Given the description of an element on the screen output the (x, y) to click on. 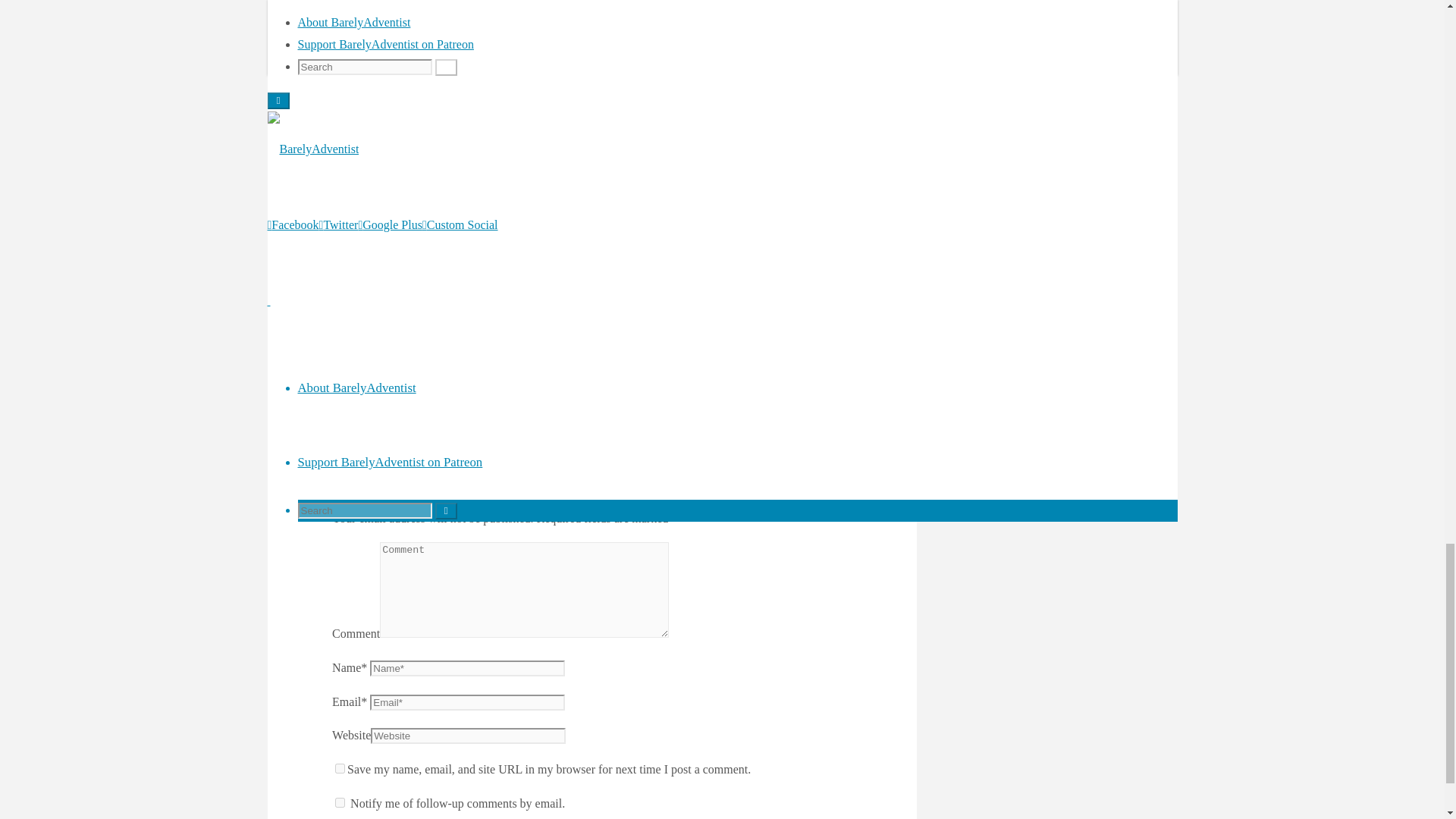
WhatsApp (400, 322)
subscribe (339, 802)
yes (339, 768)
Tweet (352, 321)
Click to share on WhatsApp (400, 322)
More (447, 322)
